Given the description of an element on the screen output the (x, y) to click on. 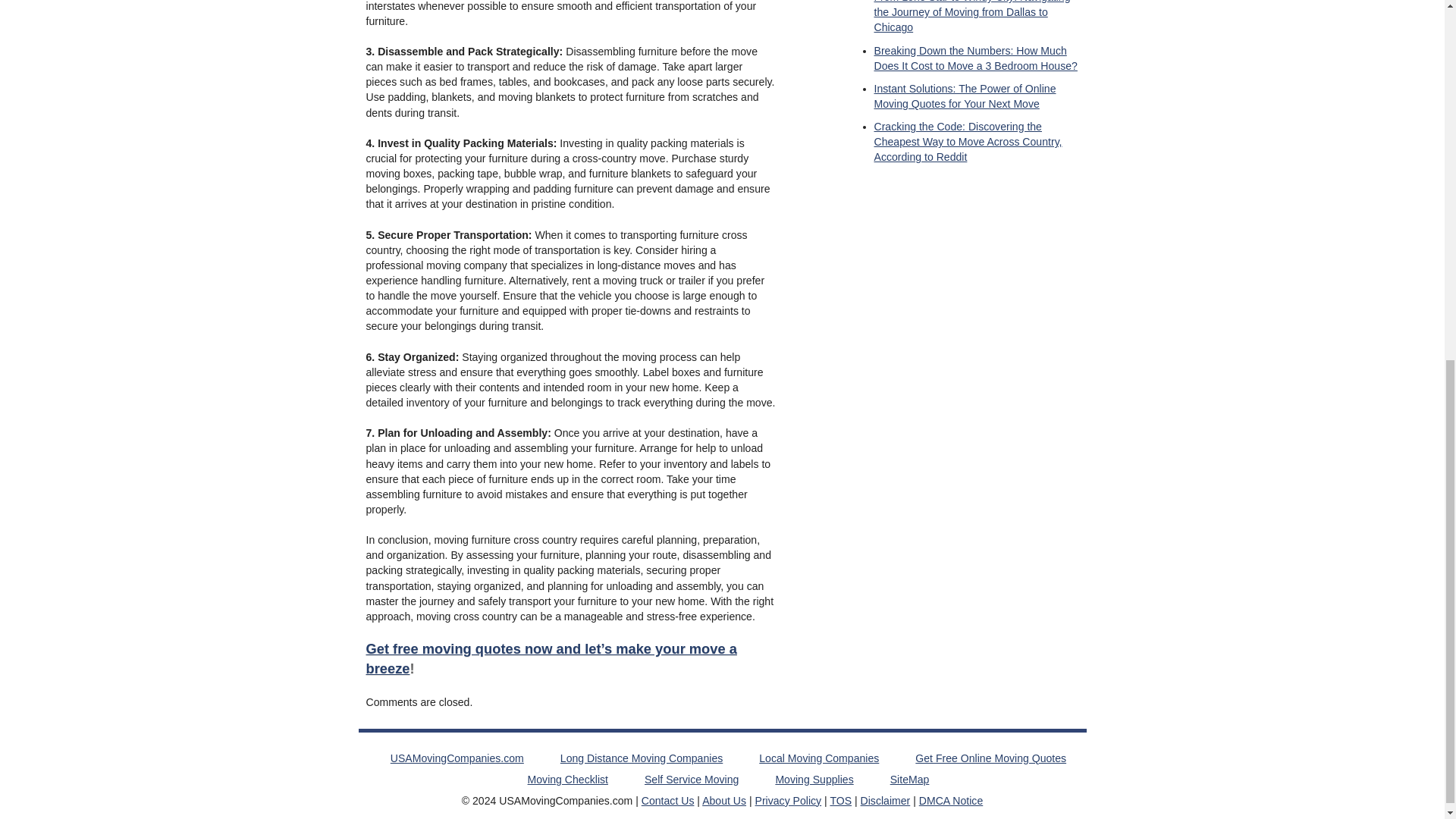
Self Service Moving (691, 779)
Moving Supplies (813, 779)
disclaimer (885, 800)
DMCA Notice (951, 800)
Disclaimer (885, 800)
about us (723, 800)
terms of service (840, 800)
USAMovingCompanies.com (457, 758)
Privacy Policy (788, 800)
SiteMap (909, 779)
privacy policy (788, 800)
About Us (723, 800)
